Given the description of an element on the screen output the (x, y) to click on. 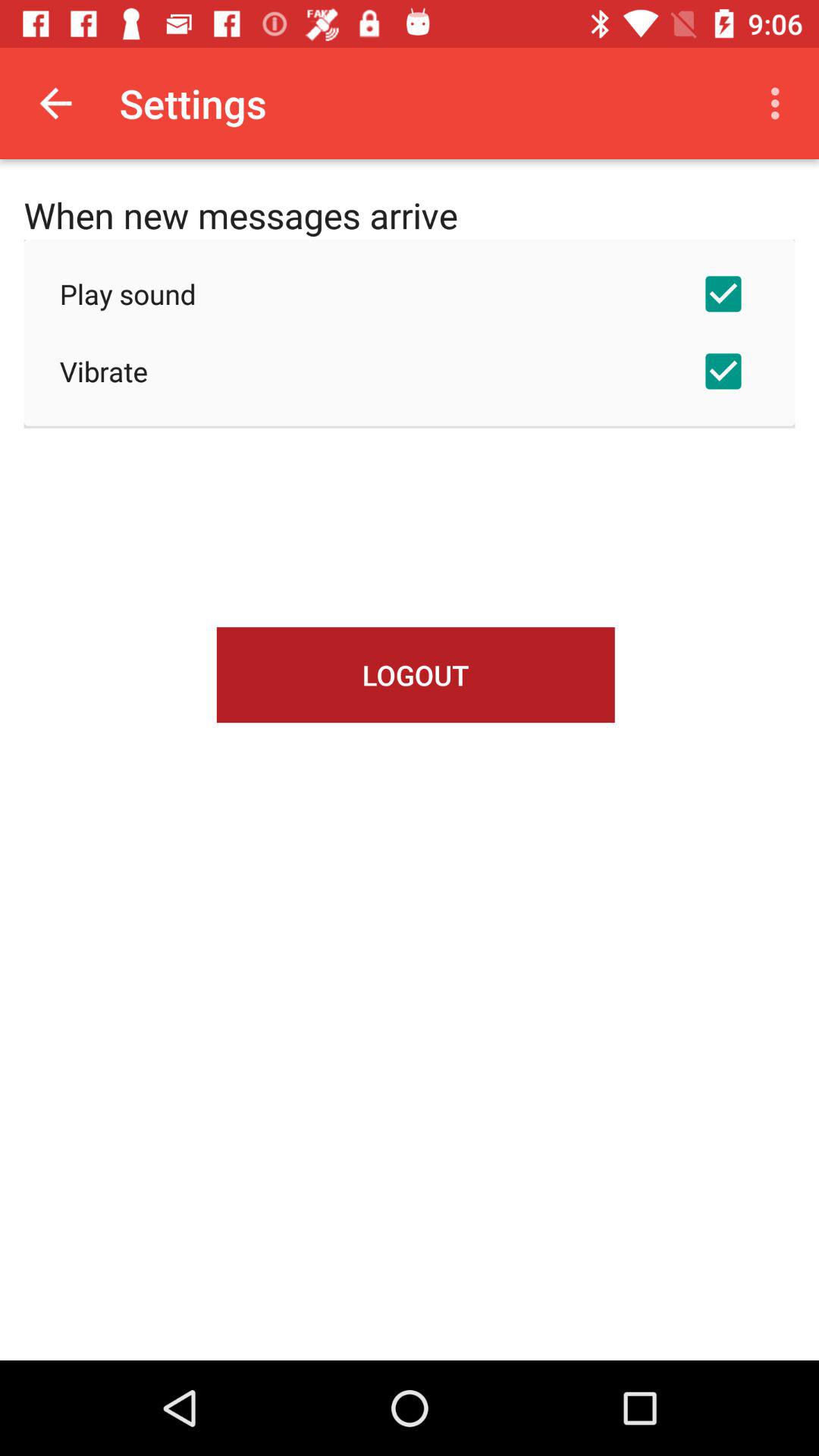
launch the item at the top right corner (779, 103)
